Given the description of an element on the screen output the (x, y) to click on. 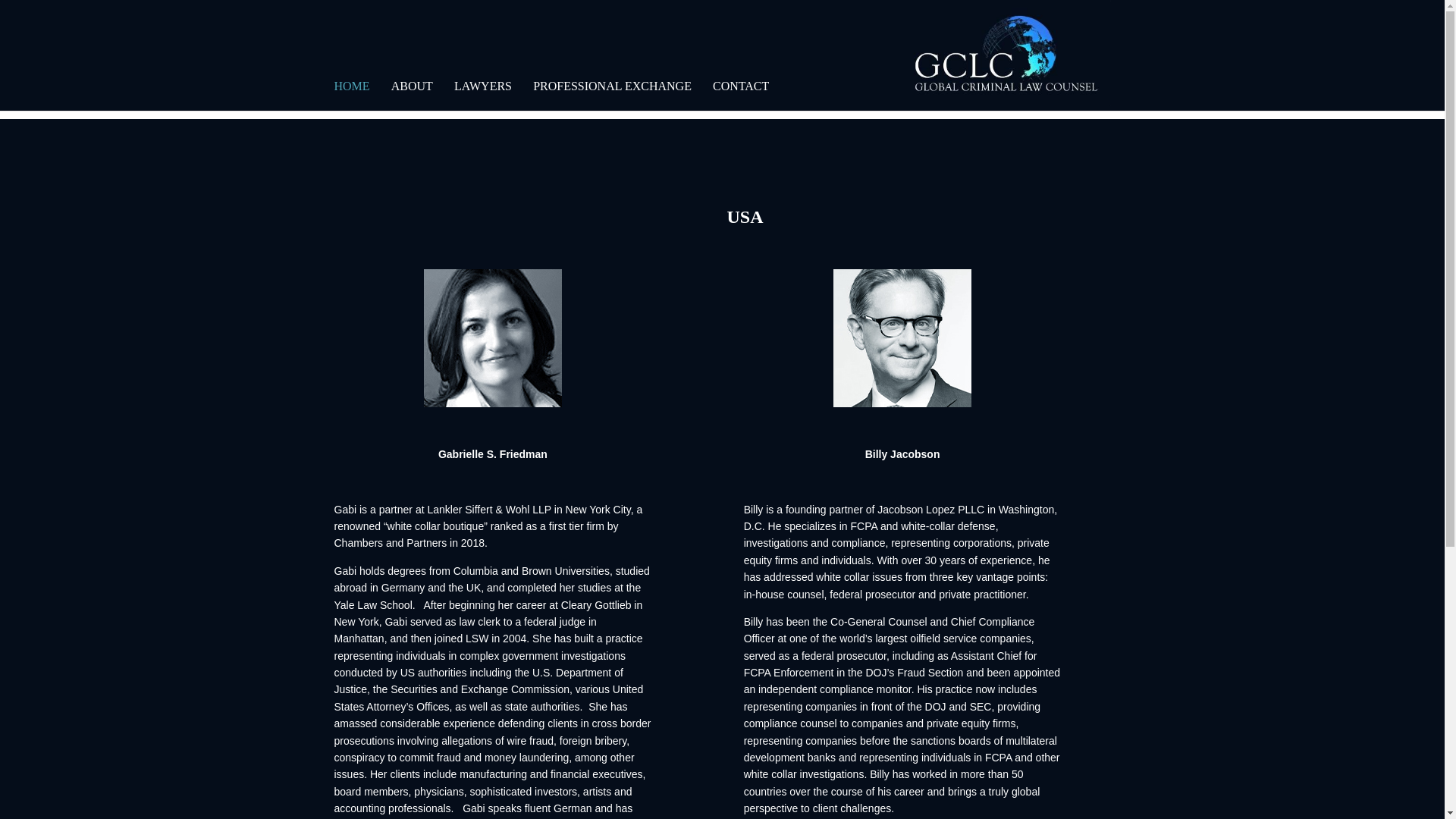
CONTACT (740, 95)
PROFESSIONAL EXCHANGE (611, 95)
LAWYERS (483, 95)
HOME (351, 95)
ABOUT (411, 95)
